Given the description of an element on the screen output the (x, y) to click on. 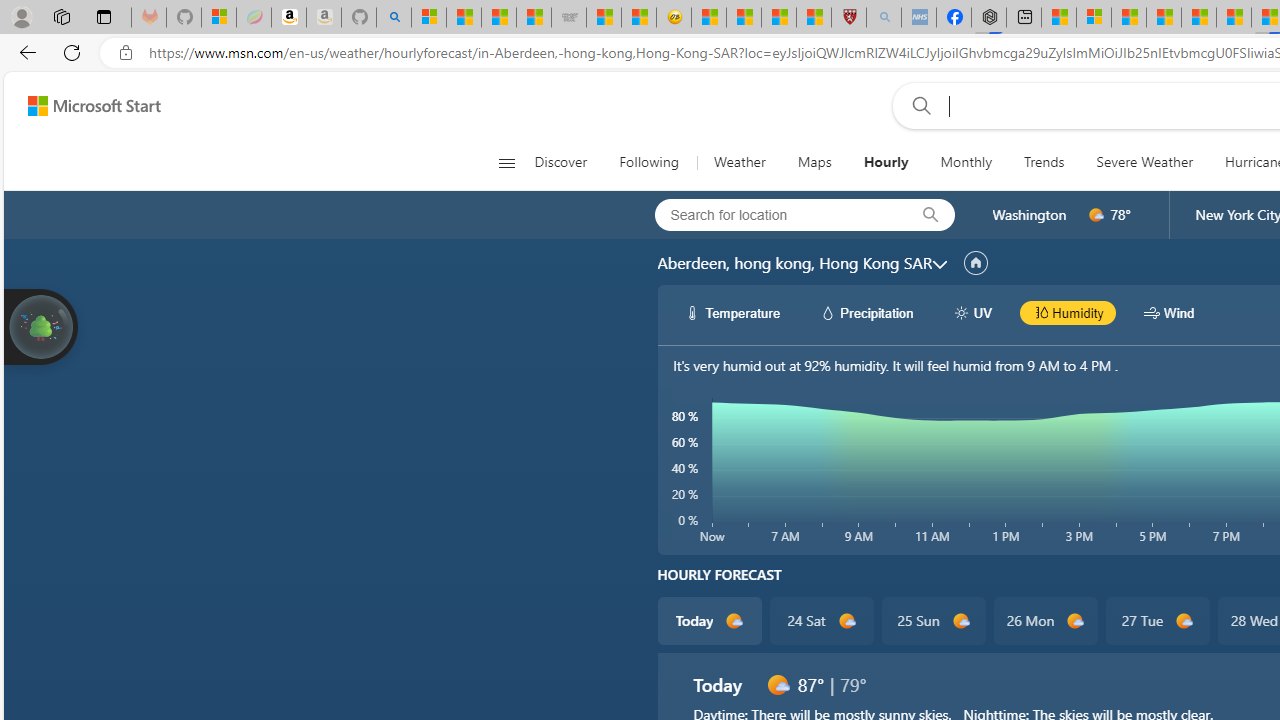
locationName/setHomeLocation (976, 263)
Maps (813, 162)
Trends (1044, 162)
